Given the description of an element on the screen output the (x, y) to click on. 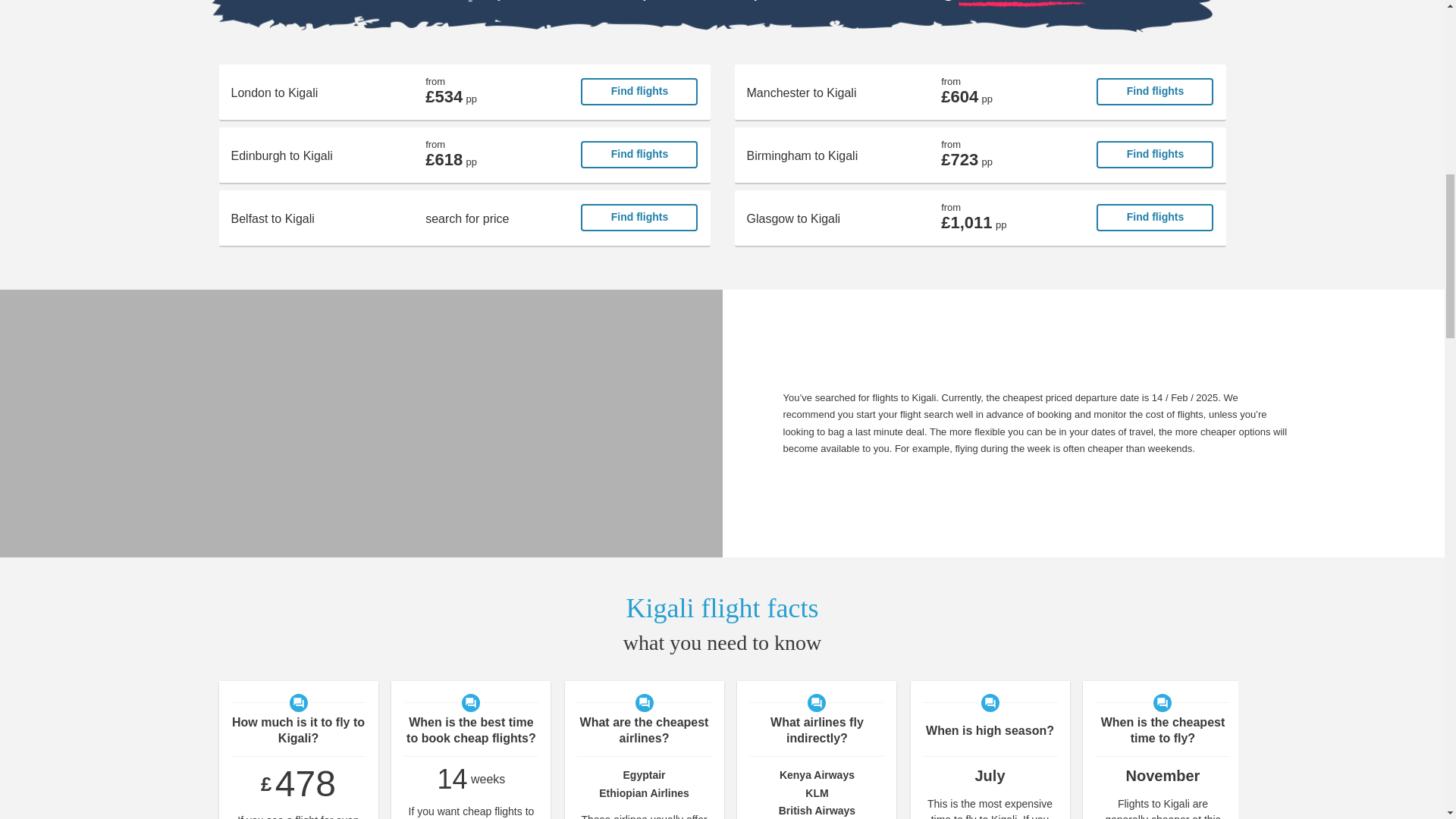
Birmingham to Kigali (979, 154)
Belfast to Kigali (464, 217)
Glasgow to Kigali (979, 217)
Edinburgh to Kigali (464, 154)
London to Kigali (464, 91)
Manchester to Kigali (979, 91)
